Given the description of an element on the screen output the (x, y) to click on. 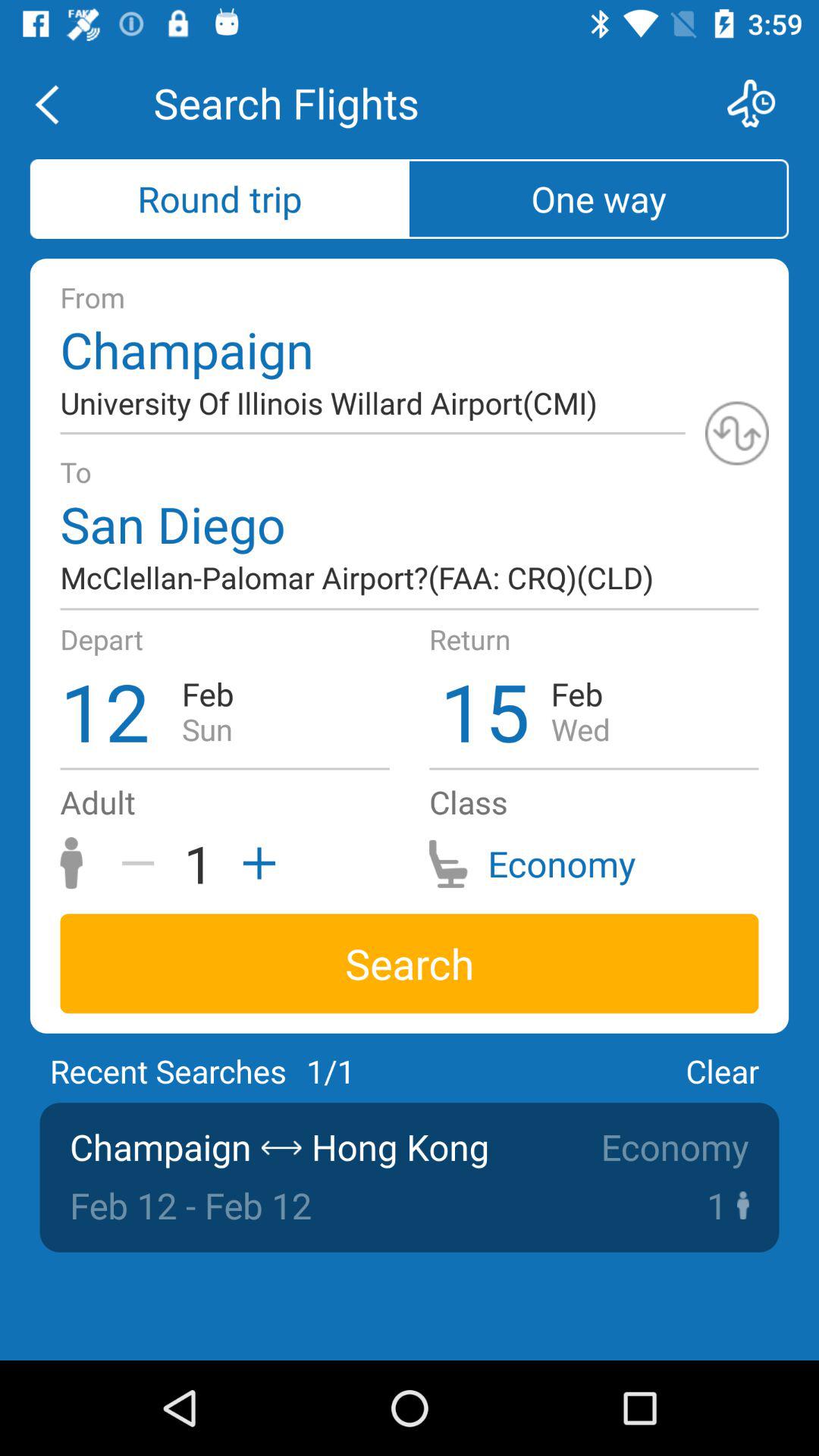
open icon above the economy icon (722, 1070)
